Given the description of an element on the screen output the (x, y) to click on. 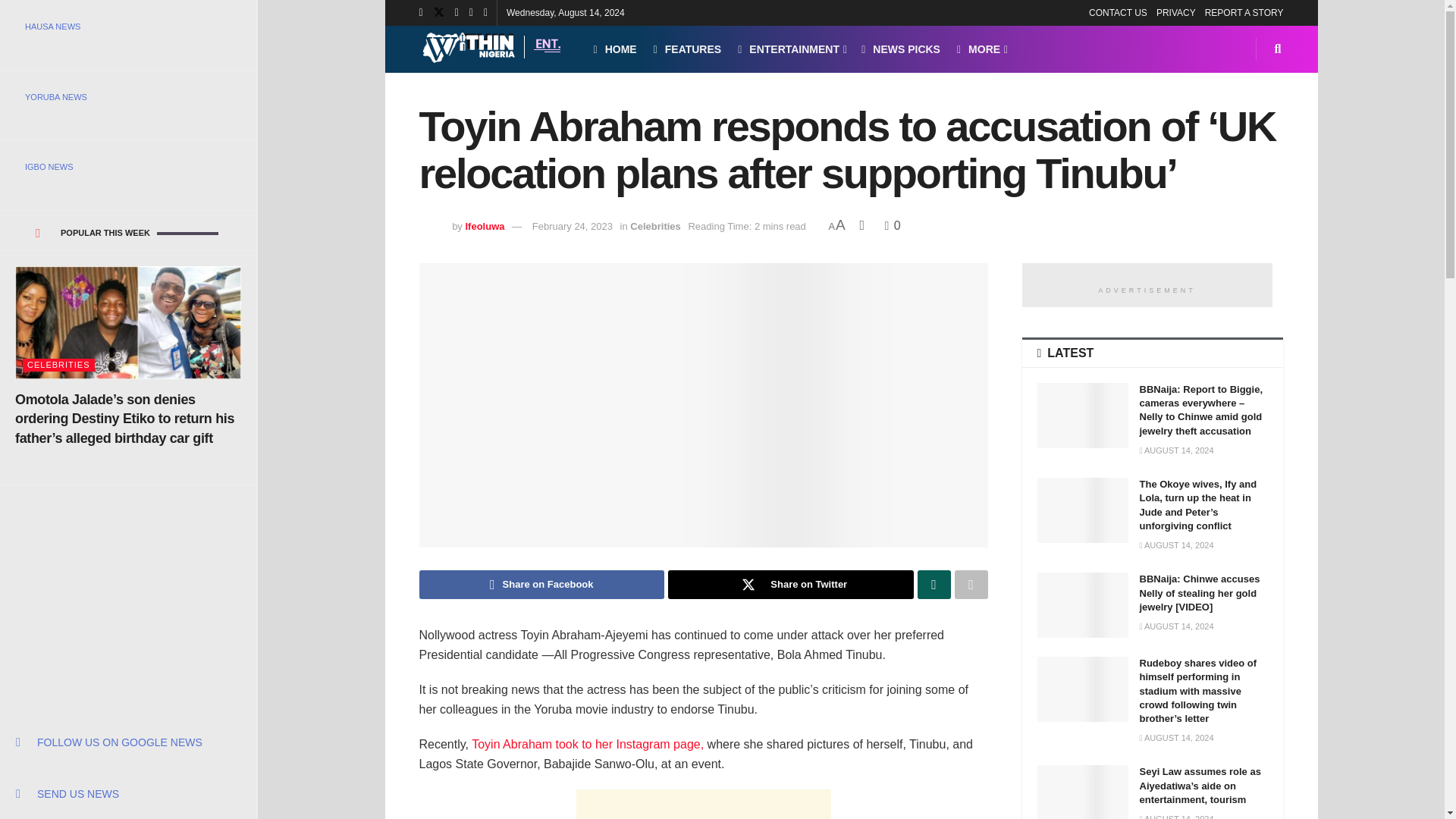
CONTACT US (1118, 12)
PRIVACY (1175, 12)
SEND US NEWS (128, 793)
FOLLOW US ON GOOGLE NEWS (128, 742)
HOME (614, 48)
REPORT A STORY (1244, 12)
WITHIN NIGERIA ON GOOGLE NEWS (128, 742)
YORUBA NEWS (127, 96)
FEATURES (687, 48)
ENTERTAINMENT (791, 48)
